Given the description of an element on the screen output the (x, y) to click on. 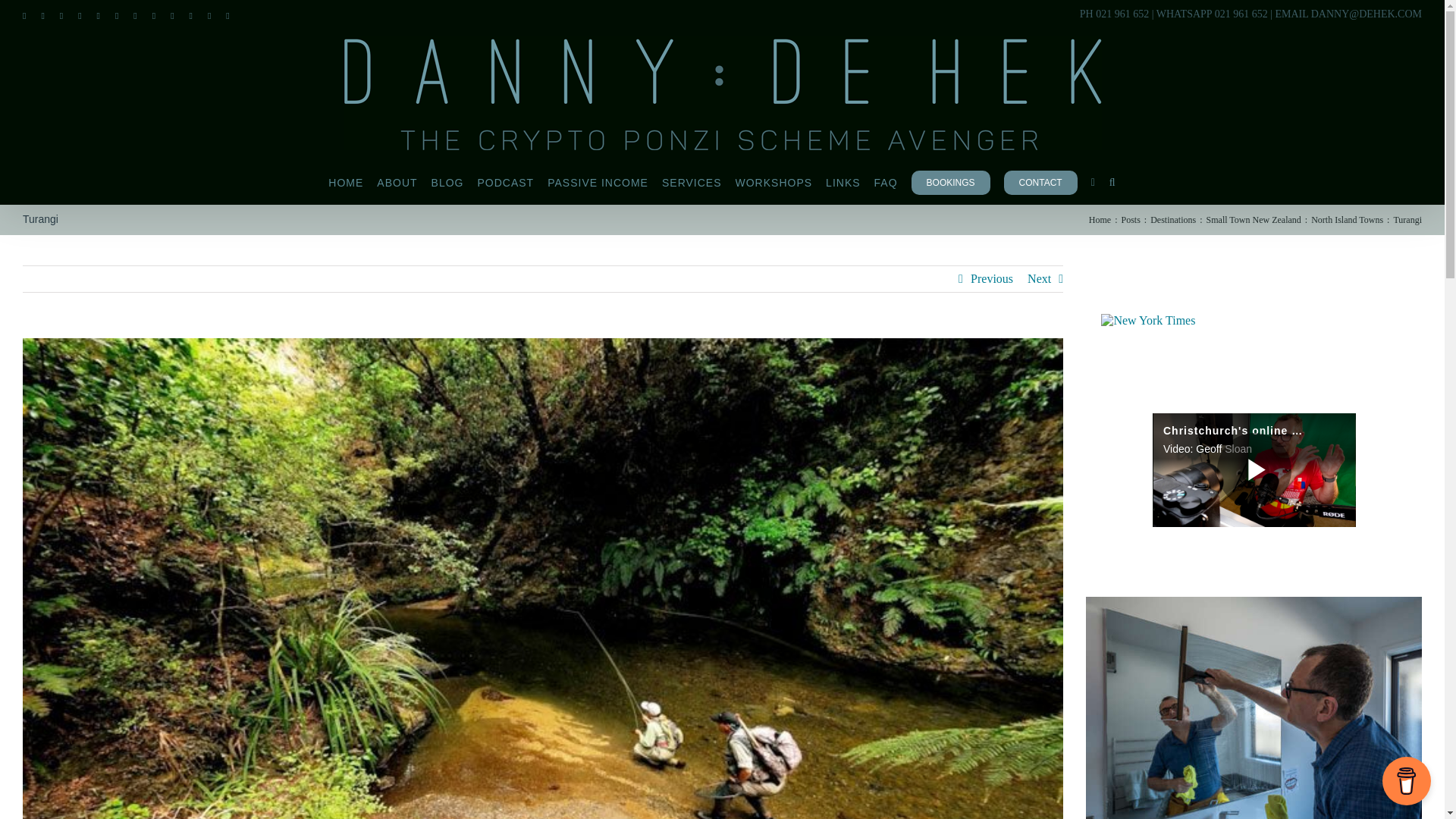
021 961 652 (1241, 12)
021 961 652 (1122, 12)
